Given the description of an element on the screen output the (x, y) to click on. 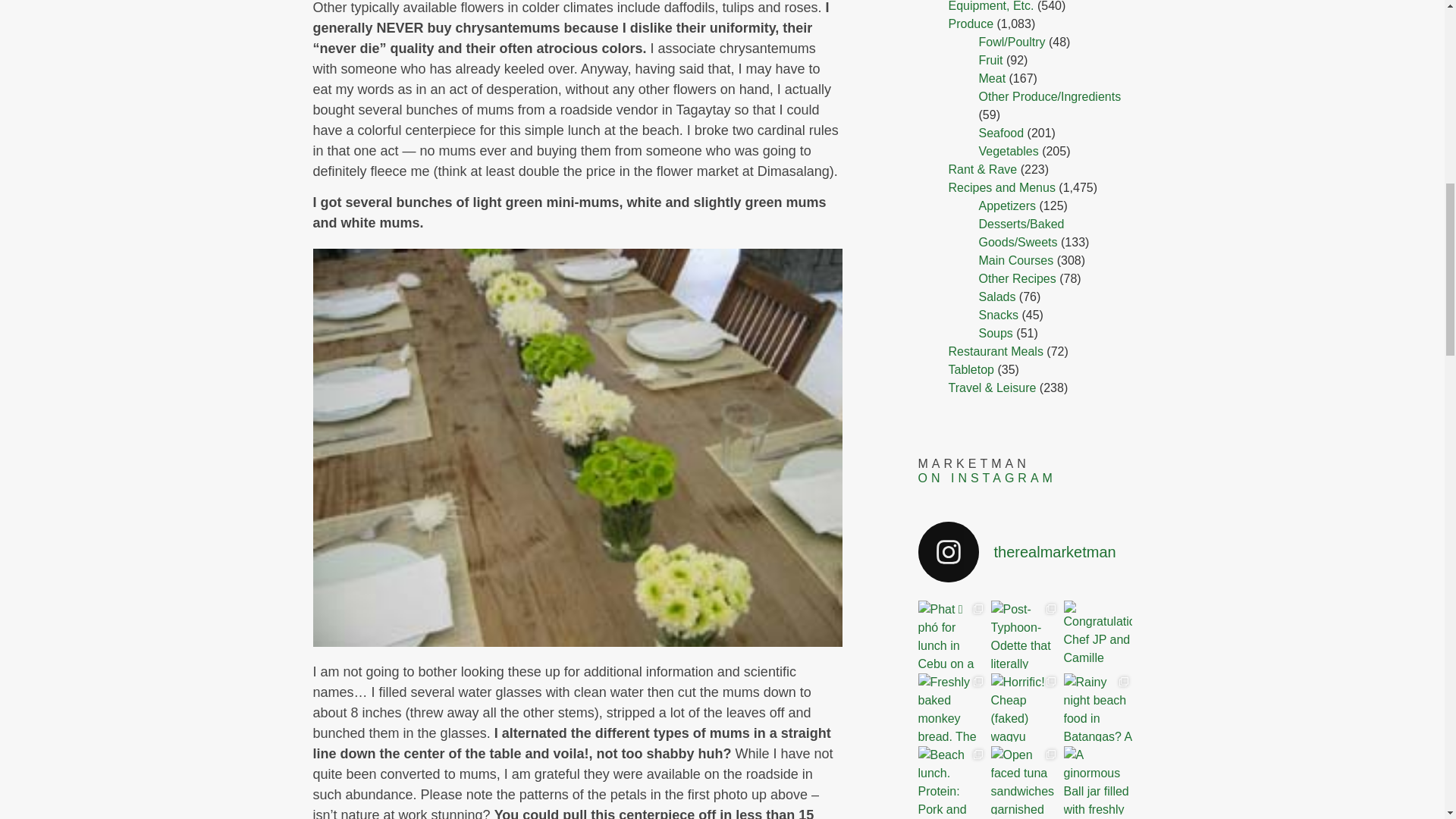
Other Food Products, Kitchen Equipment, Etc. (1027, 6)
Produce (969, 23)
